Given the description of an element on the screen output the (x, y) to click on. 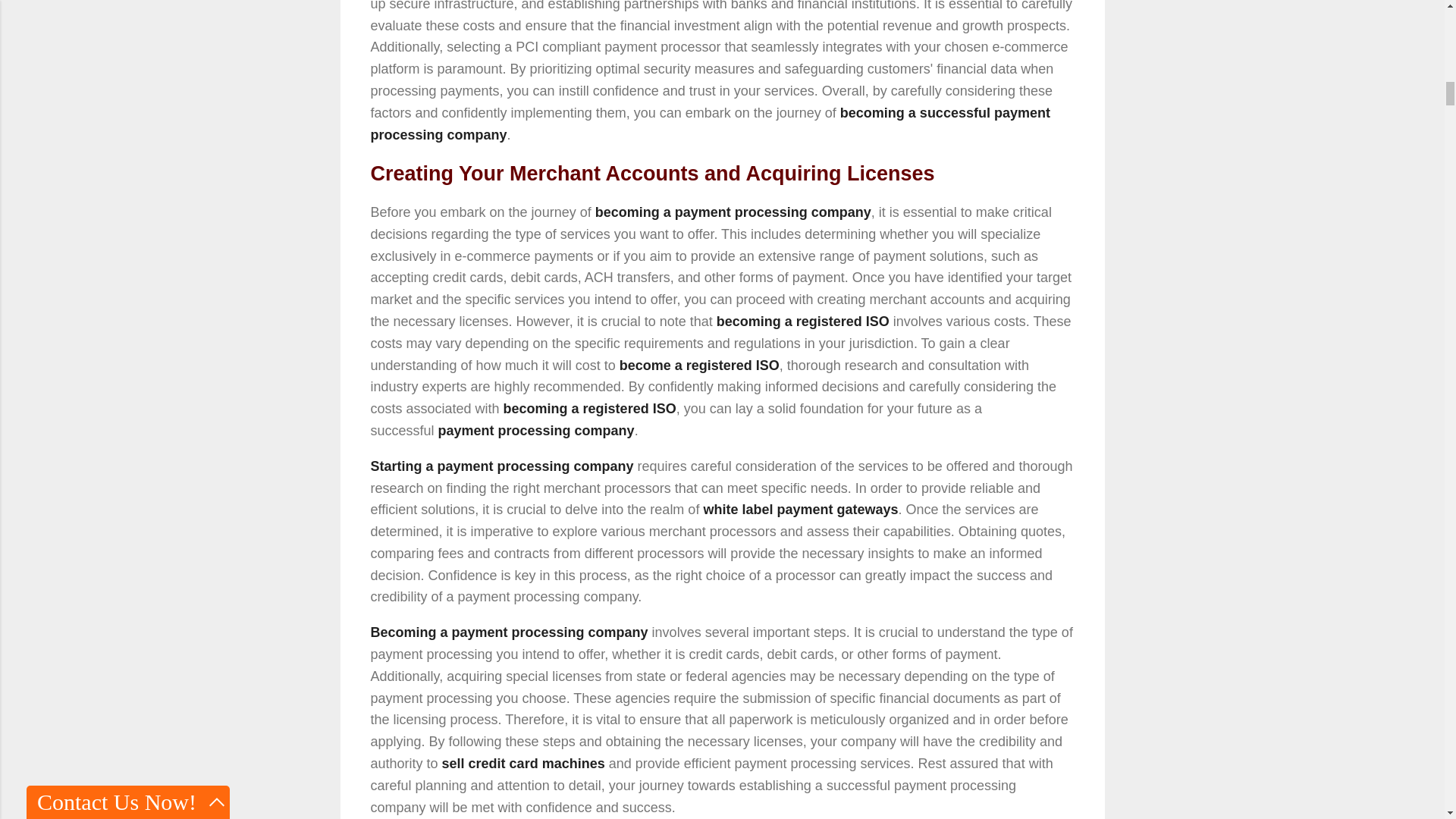
becoming a registered ISO (590, 408)
becoming a registered ISO (802, 321)
payment processing company (536, 430)
Starting a payment processing company (501, 466)
becoming a successful payment processing company (709, 123)
become a registered ISO (699, 365)
white label payment gateways (800, 509)
Becoming a payment processing company (508, 631)
becoming a payment processing company (732, 212)
sell credit card machines (523, 763)
